Given the description of an element on the screen output the (x, y) to click on. 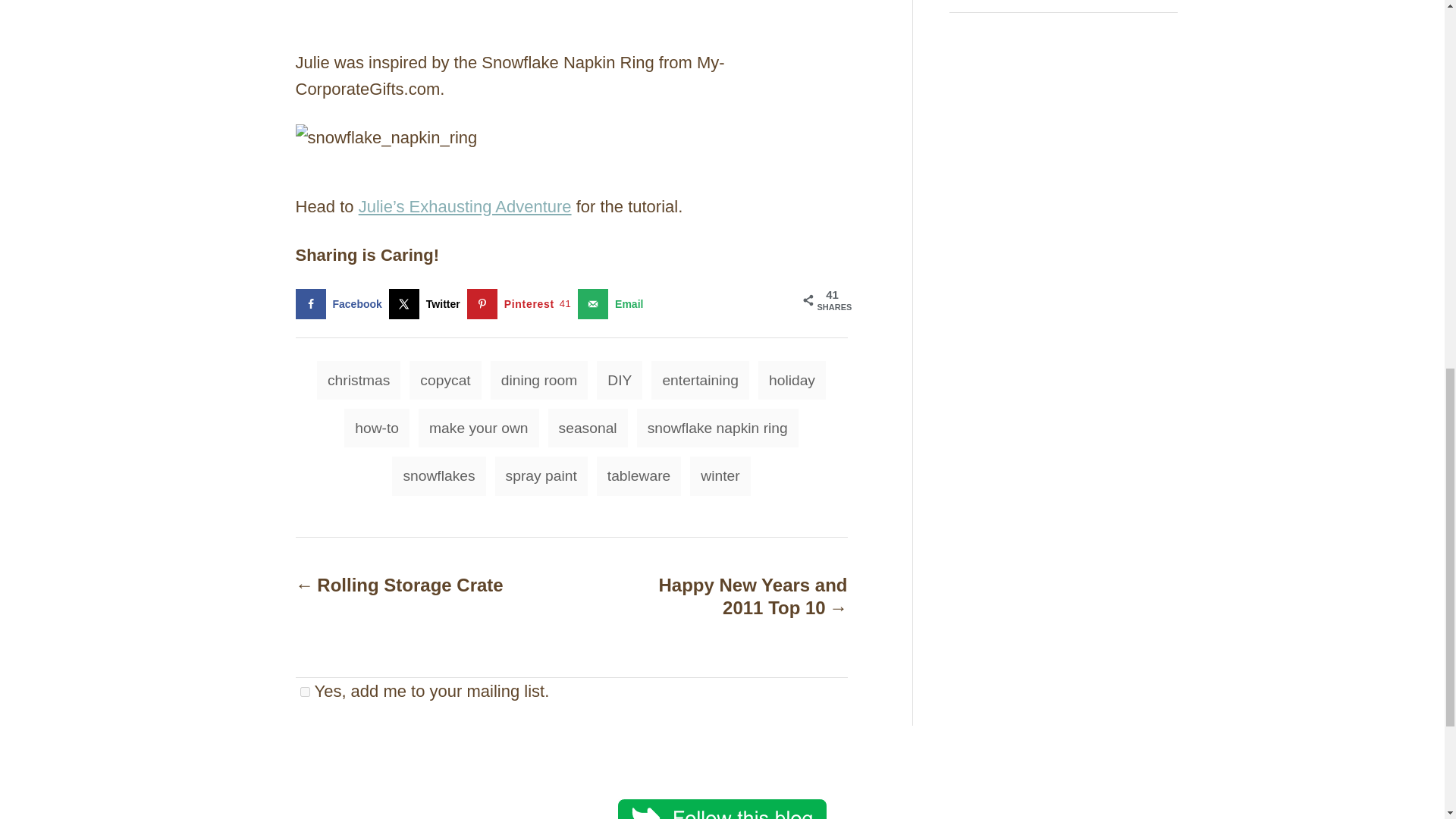
1 (304, 691)
Send over email (613, 304)
Share on X (427, 304)
Save to Pinterest (522, 304)
Share on Facebook (341, 304)
